Given the description of an element on the screen output the (x, y) to click on. 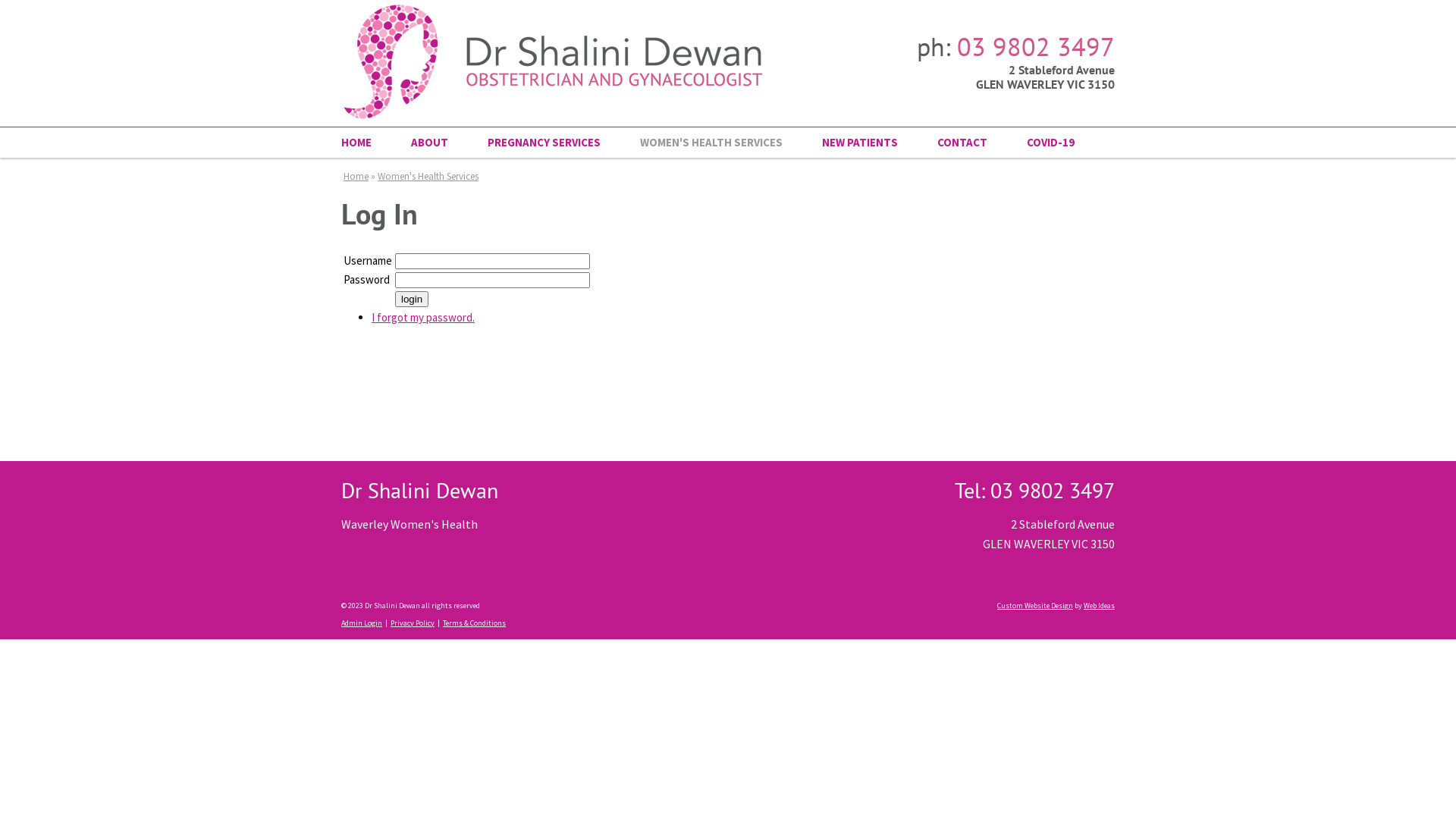
PREGNANCY SERVICES Element type: text (543, 142)
CONTACT Element type: text (962, 142)
Women's Health Services Element type: text (427, 175)
03 9802 3497 Element type: text (1035, 45)
login Element type: text (411, 299)
HOME Element type: text (366, 142)
Tel: 03 9802 3497 Element type: text (1034, 490)
Home Element type: text (355, 175)
Web Ideas Element type: text (1098, 605)
NEW PATIENTS Element type: text (859, 142)
Custom Website Design Element type: text (1035, 605)
WOMEN'S HEALTH SERVICES Element type: text (711, 142)
I forgot my password. Element type: text (422, 317)
Terms & Conditions Element type: text (473, 622)
Admin Login Element type: text (361, 622)
Privacy Policy Element type: text (412, 622)
COVID-19 Element type: text (1040, 142)
ABOUT Element type: text (429, 142)
